Given the description of an element on the screen output the (x, y) to click on. 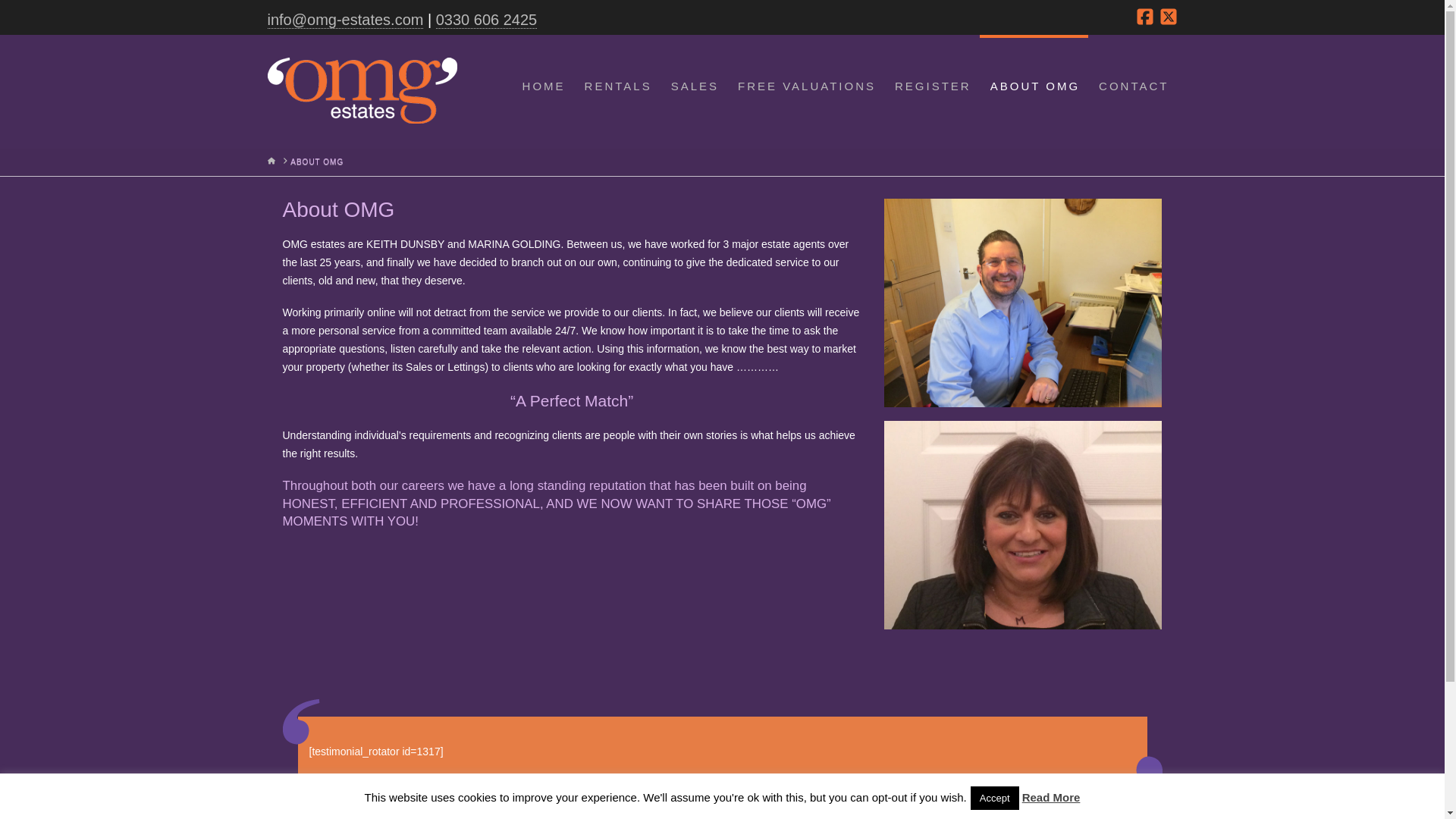
You Are Here (316, 161)
ABOUT OMG (316, 161)
Accept (995, 797)
FREE VALUATIONS (804, 91)
Read More (1051, 797)
ABOUT OMG (1033, 91)
0330 606 2425 (486, 19)
